Given the description of an element on the screen output the (x, y) to click on. 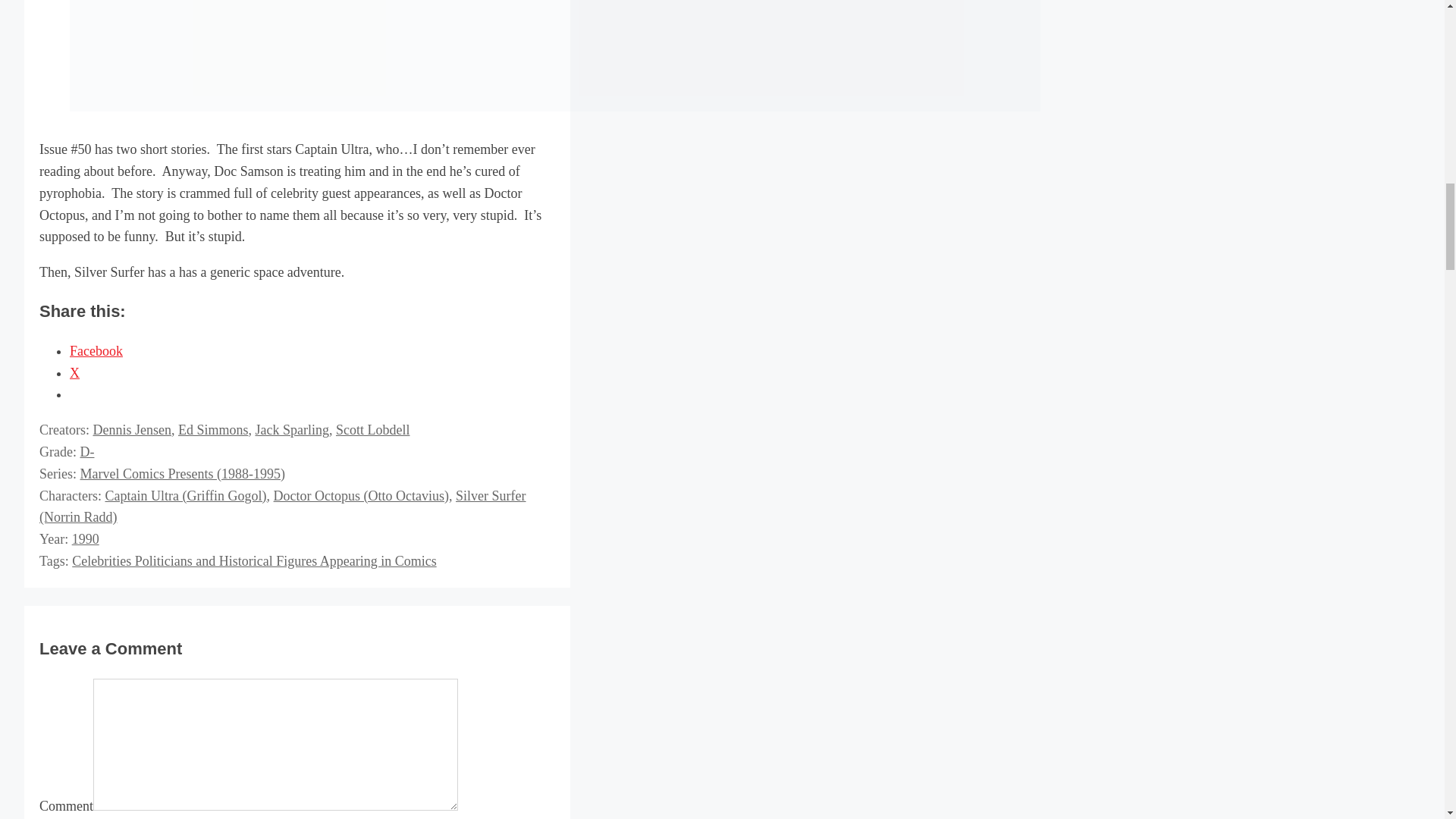
D- (87, 451)
Ed Simmons (212, 429)
Jack Sparling (291, 429)
Click to share on Facebook (95, 350)
Dennis Jensen (131, 429)
1990 (85, 539)
Scott Lobdell (373, 429)
Facebook (95, 350)
